Given the description of an element on the screen output the (x, y) to click on. 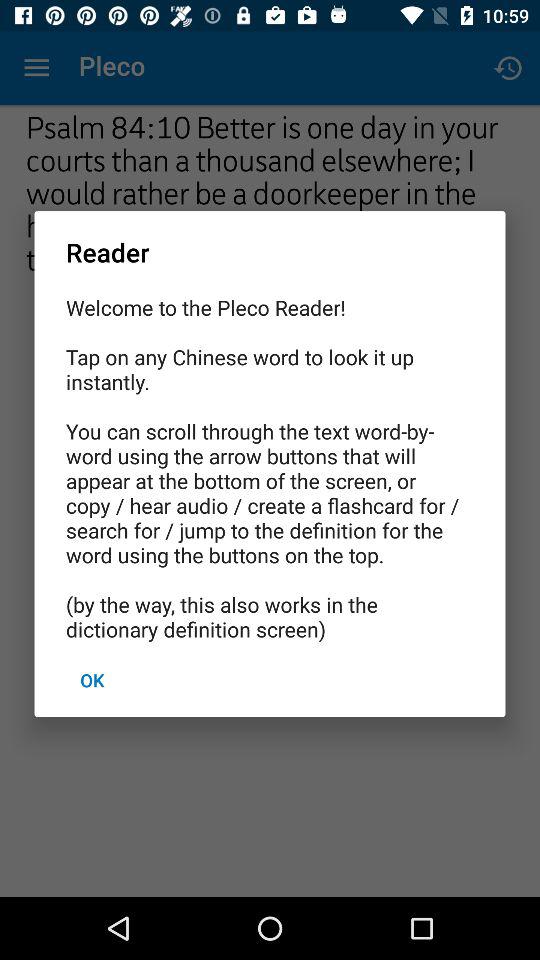
open the ok item (92, 679)
